Given the description of an element on the screen output the (x, y) to click on. 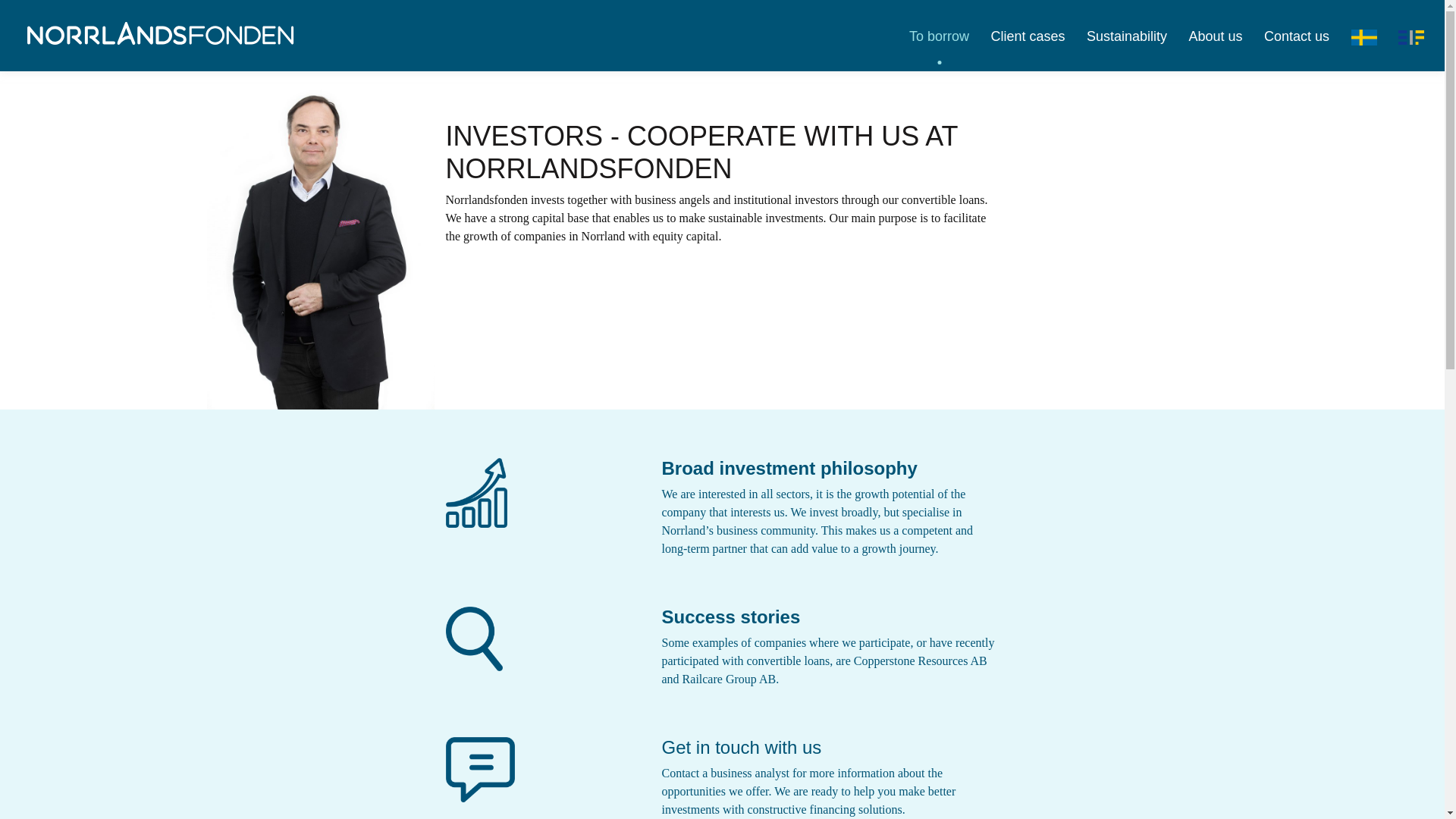
Contact us (1296, 36)
To borrow (938, 36)
About us (1216, 36)
Sustainability (1126, 36)
Client cases (1028, 36)
